Given the description of an element on the screen output the (x, y) to click on. 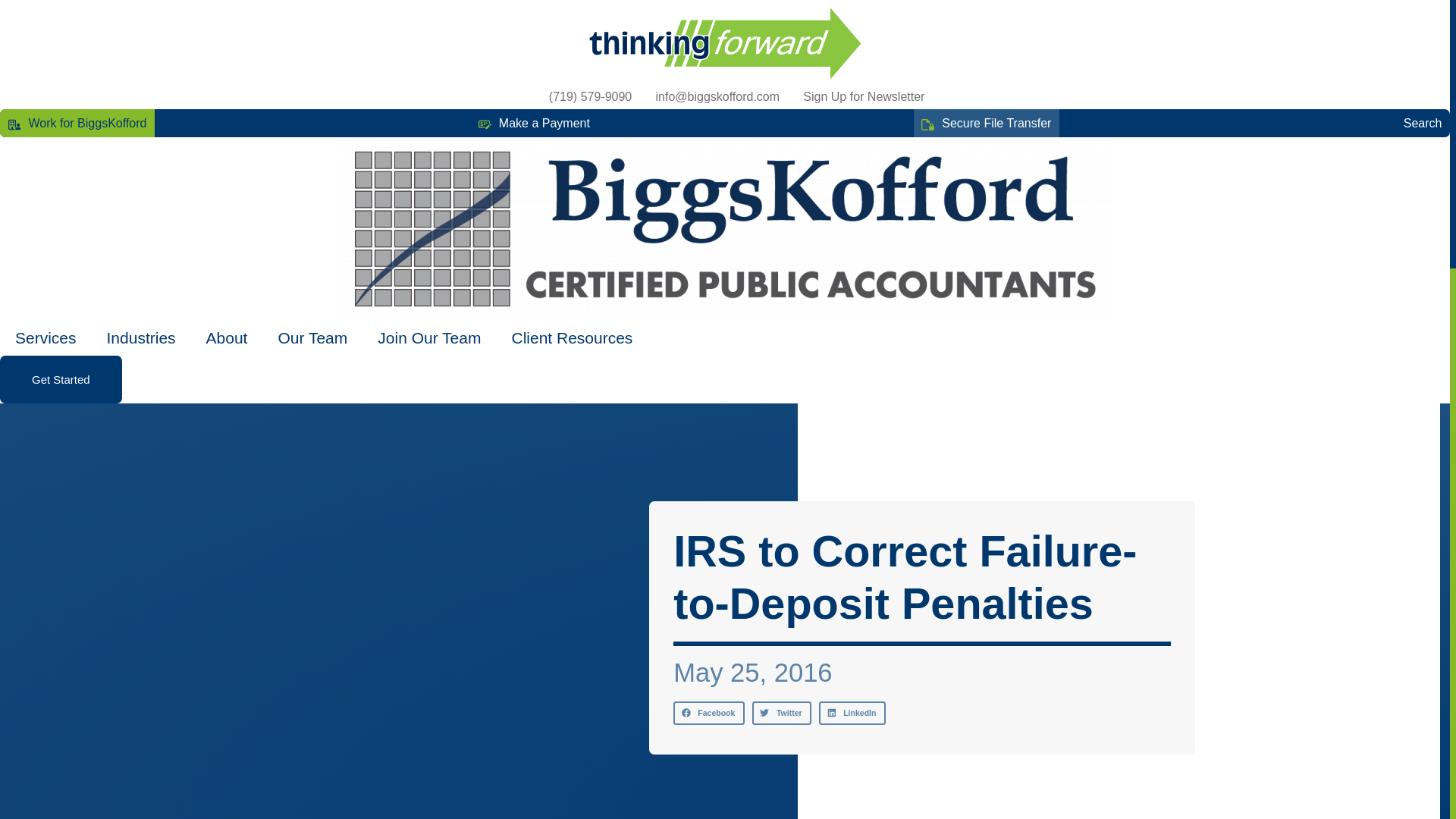
Industries (140, 338)
Sign Up for Newsletter (851, 96)
Secure File Transfer (986, 123)
Search (1412, 123)
Make a Payment (534, 123)
About (226, 338)
Join Our Team (429, 338)
Our Team (312, 338)
Services (45, 338)
Work for BiggsKofford (77, 123)
